Given the description of an element on the screen output the (x, y) to click on. 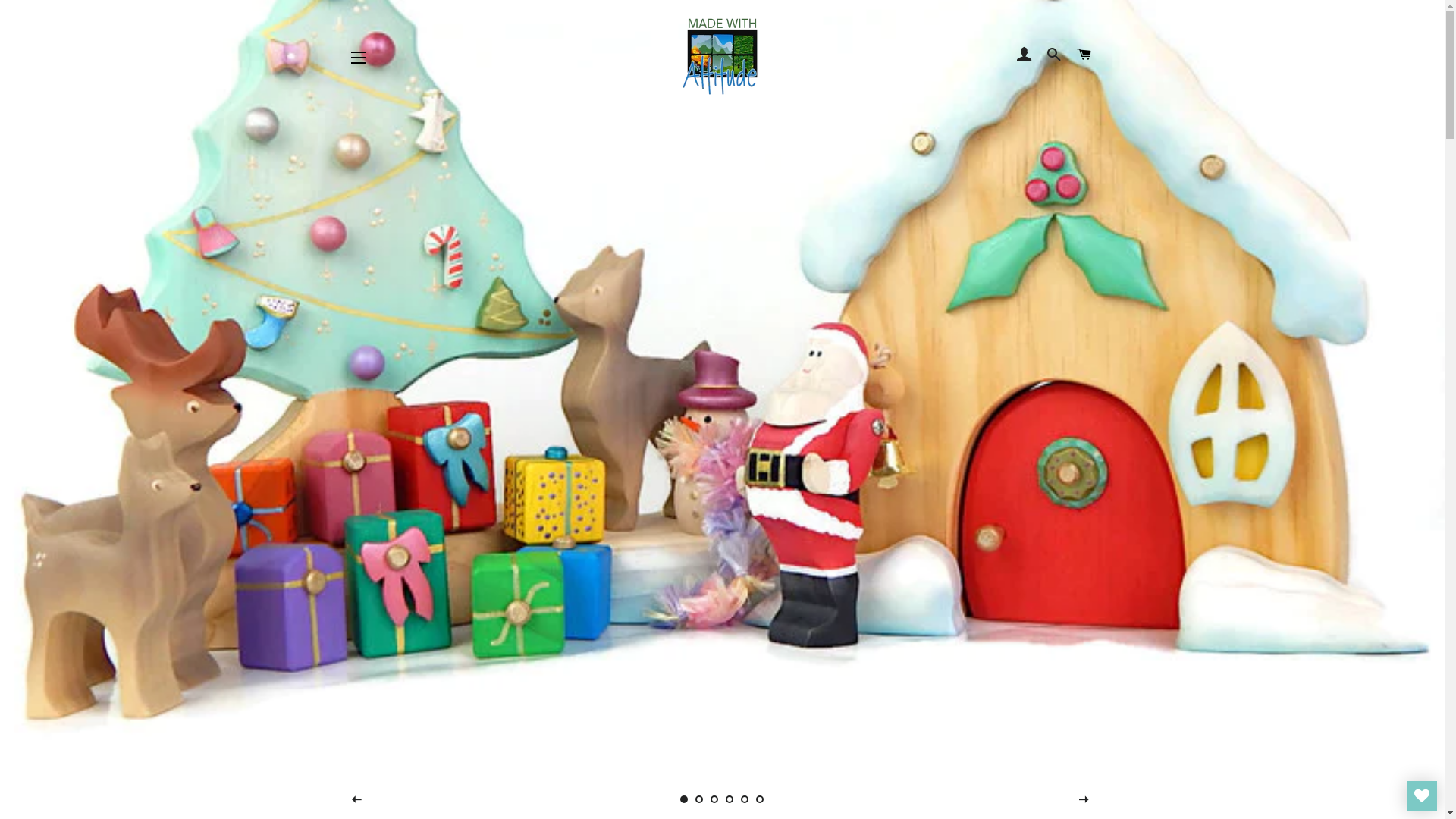
CART Element type: text (1083, 54)
LOG IN Element type: text (1023, 54)
SITE NAVIGATION Element type: text (358, 57)
MY WISHLIST Element type: text (1421, 796)
SEARCH Element type: text (1054, 54)
